Given the description of an element on the screen output the (x, y) to click on. 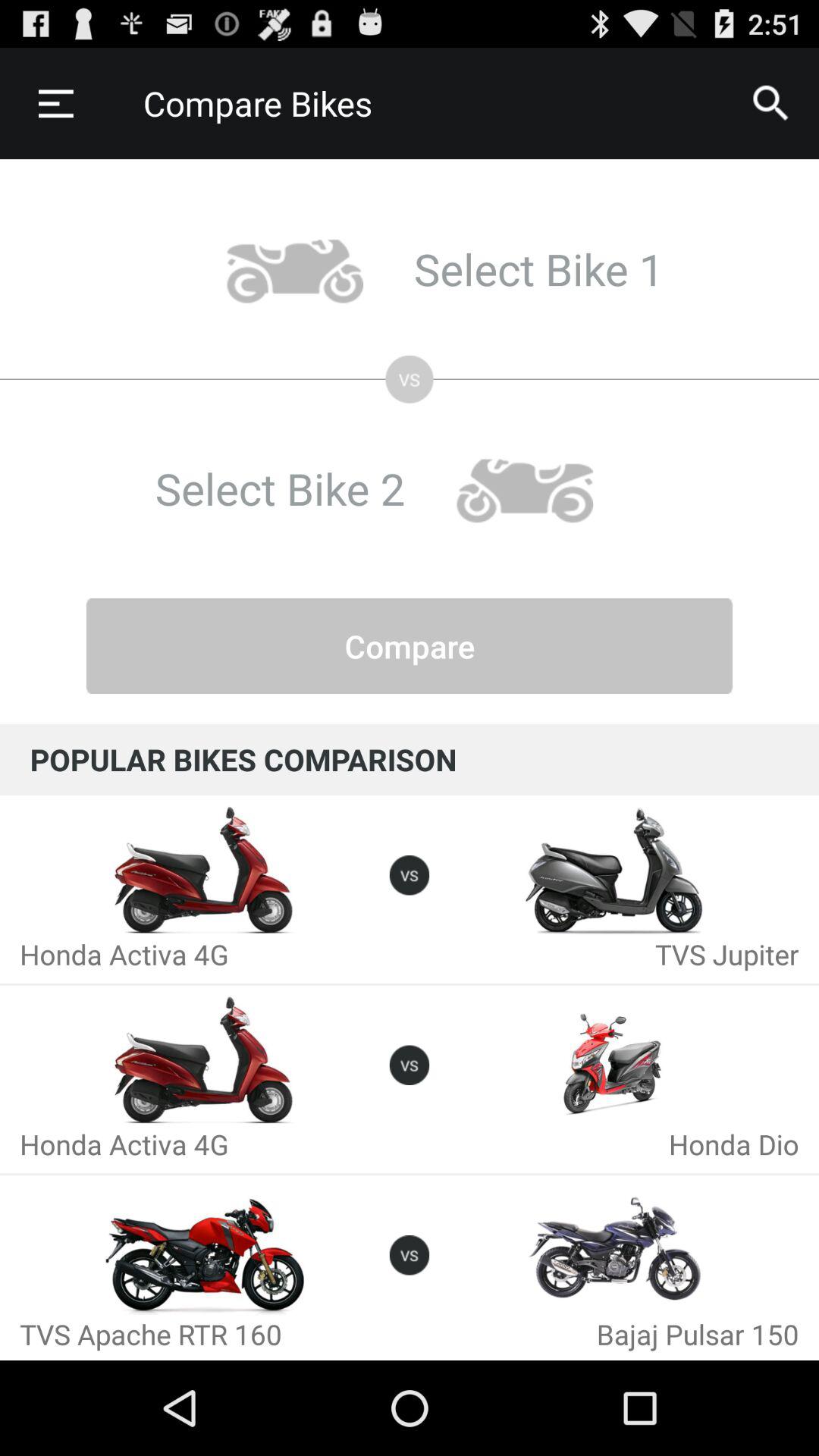
turn off icon to the right of the compare bikes (771, 103)
